Given the description of an element on the screen output the (x, y) to click on. 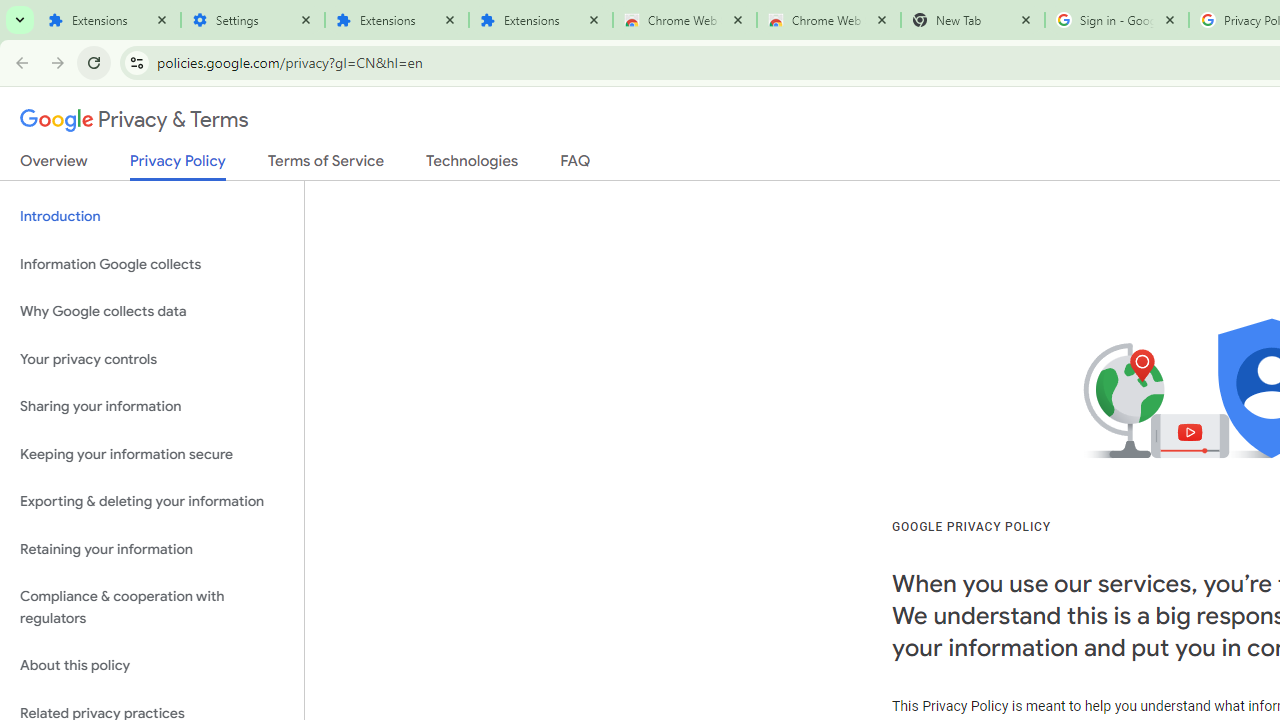
New Tab (972, 20)
Extensions (108, 20)
Why Google collects data (152, 312)
Extensions (396, 20)
Sharing your information (152, 407)
Compliance & cooperation with regulators (152, 607)
Chrome Web Store (684, 20)
